Given the description of an element on the screen output the (x, y) to click on. 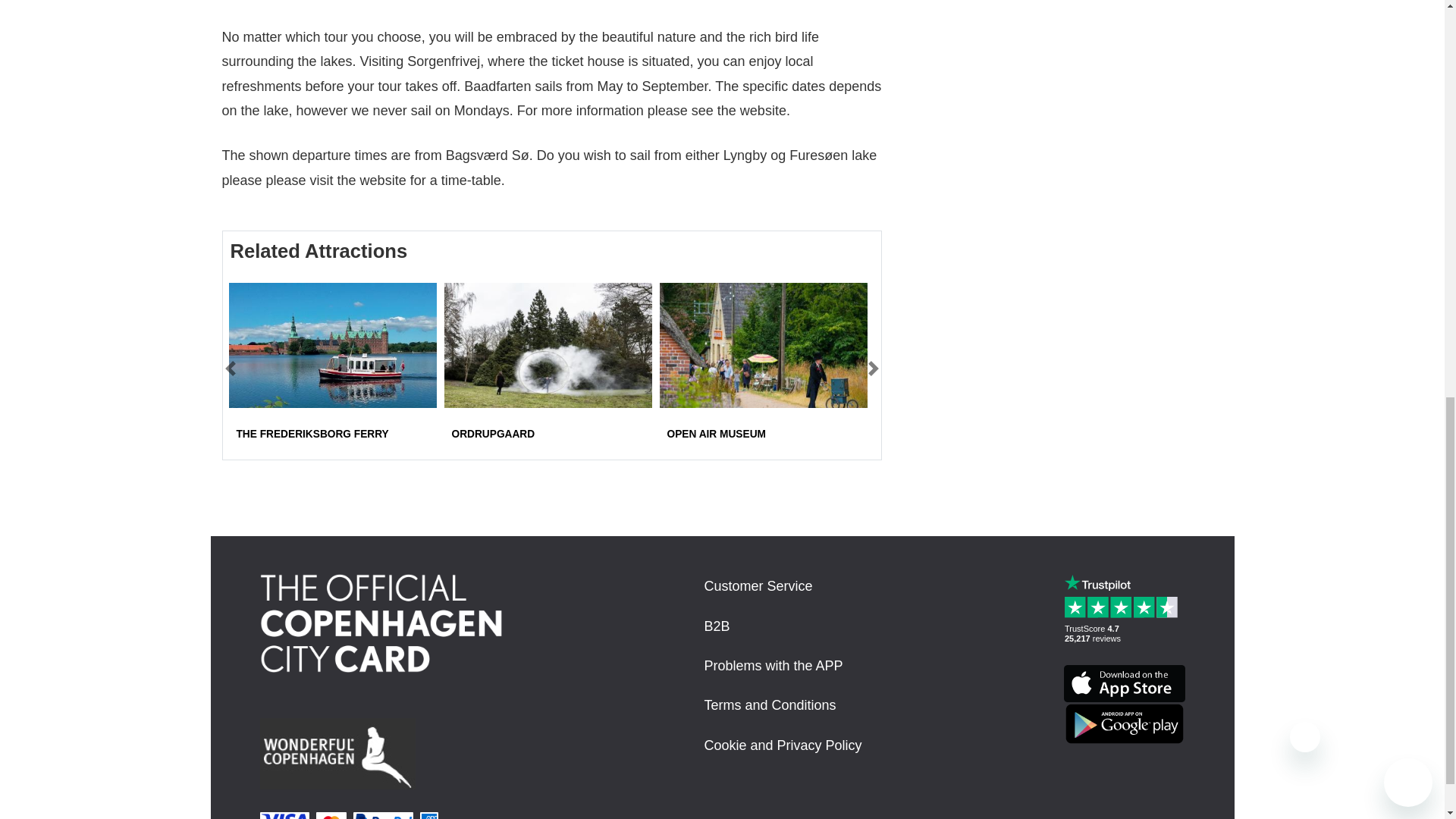
Customer reviews powered by Trustpilot (1123, 630)
THE FREDERIKSBORG FERRY (311, 433)
OPEN AIR MUSEUM (715, 433)
ORDRUPGAARD (493, 433)
